Given the description of an element on the screen output the (x, y) to click on. 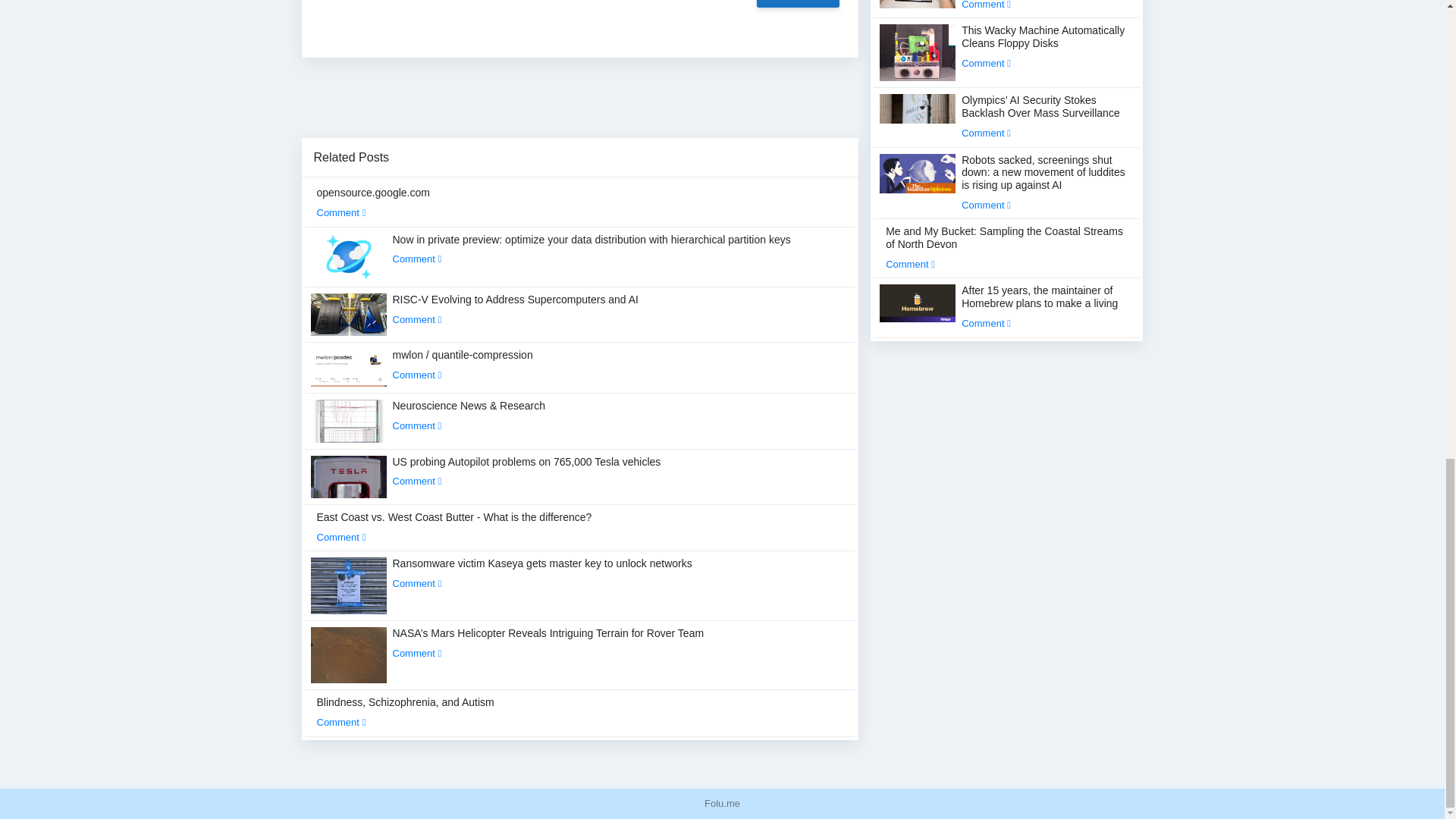
Comment (417, 480)
Comment (341, 536)
Comment (417, 425)
Comment (417, 374)
Advertisement (580, 103)
opensource.google.com (373, 202)
ADD COMMENT (798, 3)
Ransomware victim Kaseya gets master key to unlock networks (543, 572)
RISC-V Evolving to Address Supercomputers and AI (516, 309)
US probing Autopilot problems on 765,000 Tesla vehicles (527, 471)
Comment (417, 319)
East Coast vs. West Coast Butter - What is the difference? (454, 526)
Comment (341, 212)
Comment (417, 258)
